Given the description of an element on the screen output the (x, y) to click on. 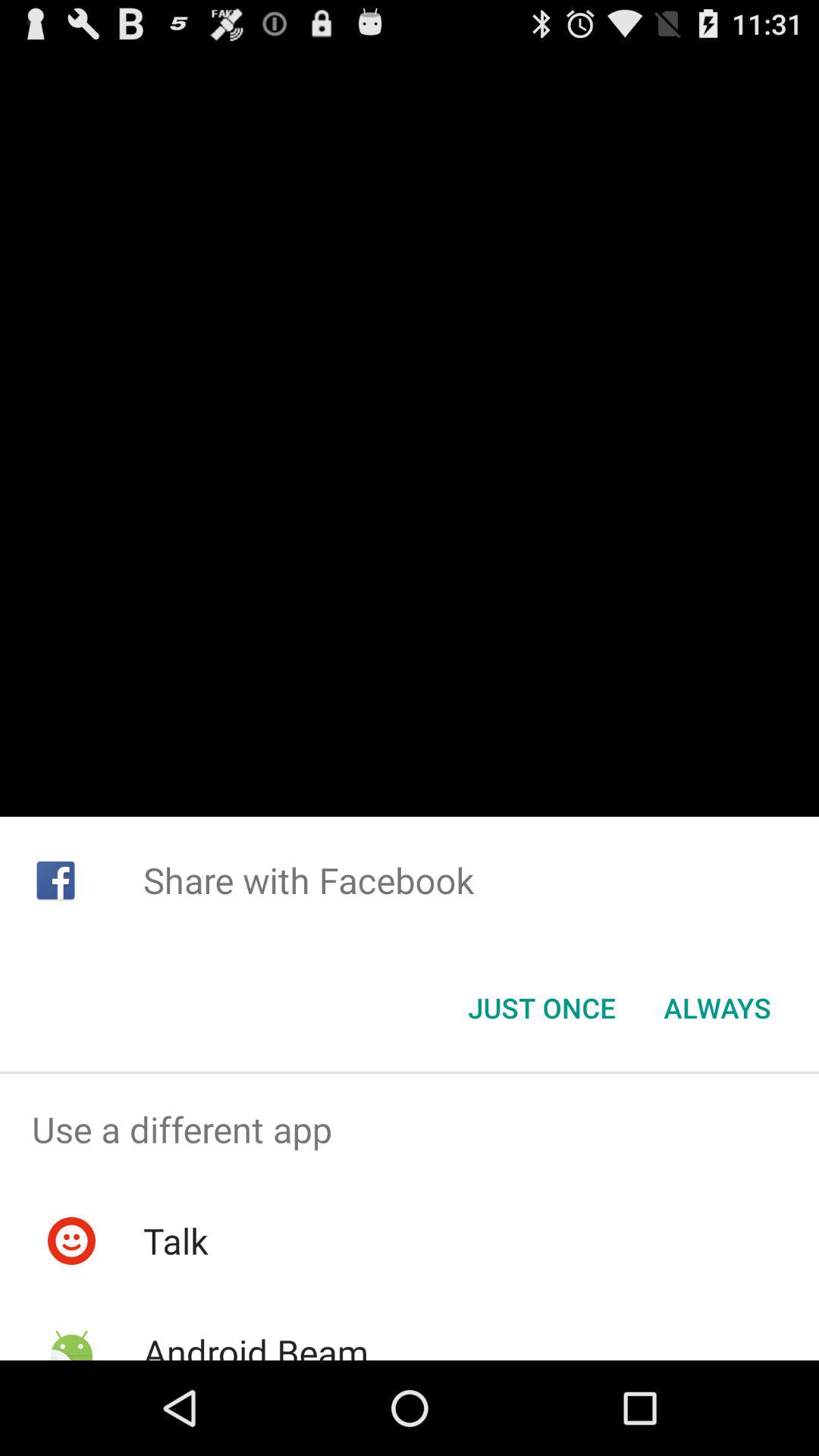
turn off item next to the always (541, 1007)
